Given the description of an element on the screen output the (x, y) to click on. 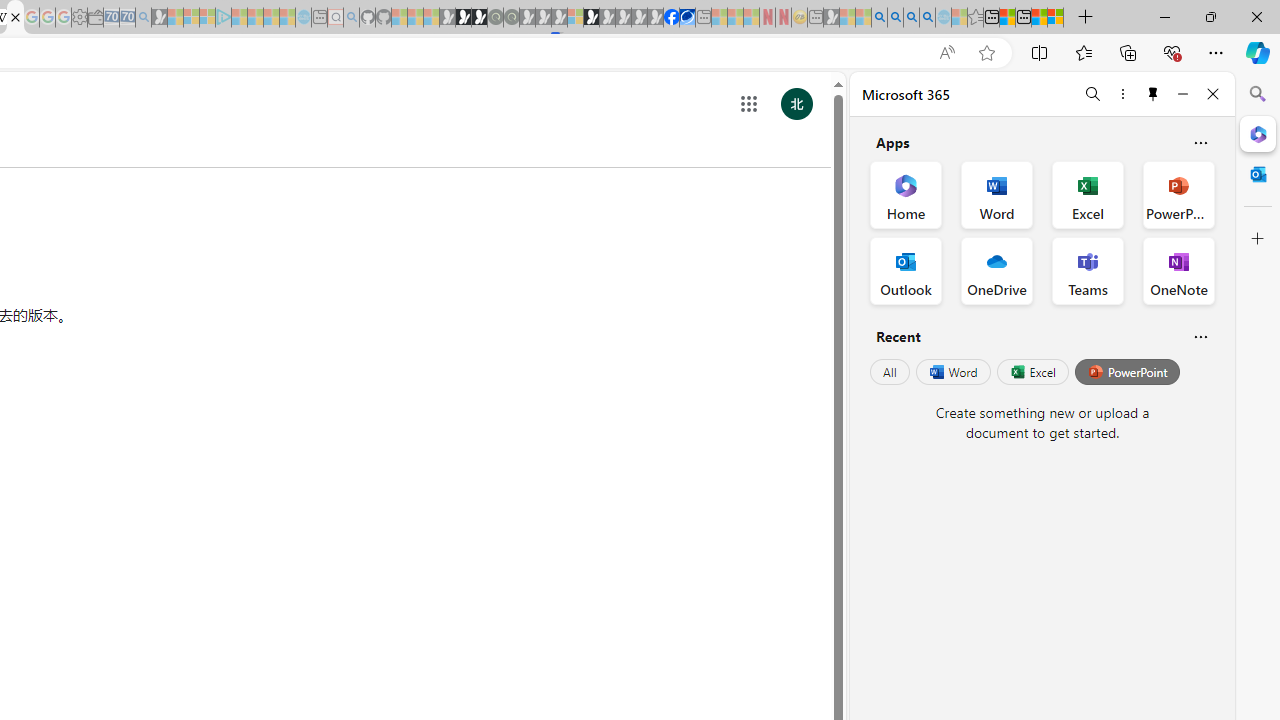
Sign in to your account - Sleeping (575, 17)
Aberdeen, Hong Kong SAR weather forecast | Microsoft Weather (1007, 17)
Google Chrome Internet Browser Download - Search Images (927, 17)
MSN - Sleeping (831, 17)
Home Office App (906, 194)
PowerPoint Office App (1178, 194)
All (890, 372)
Bing AI - Search (879, 17)
